Given the description of an element on the screen output the (x, y) to click on. 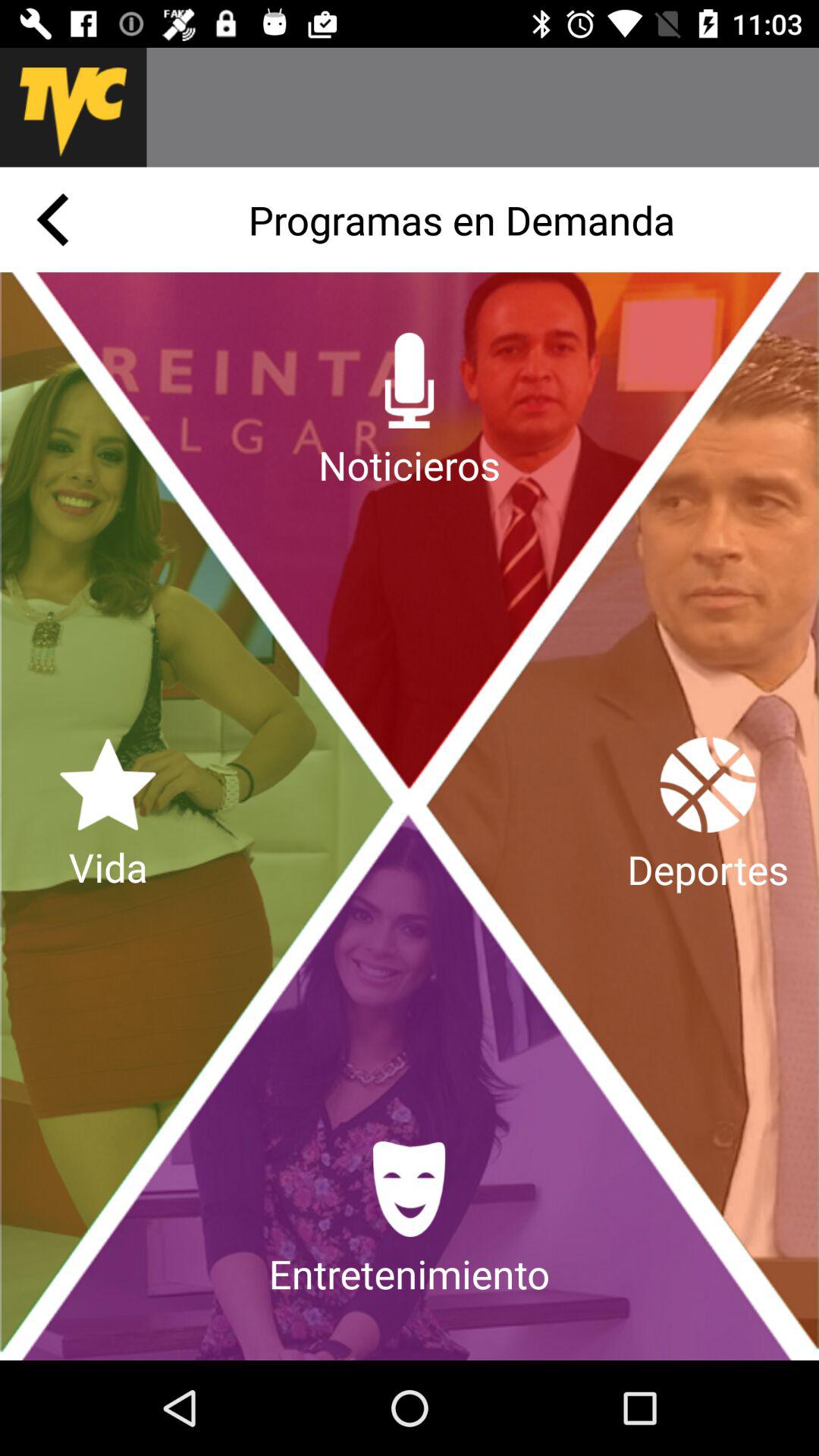
swipe to vida icon (107, 815)
